Given the description of an element on the screen output the (x, y) to click on. 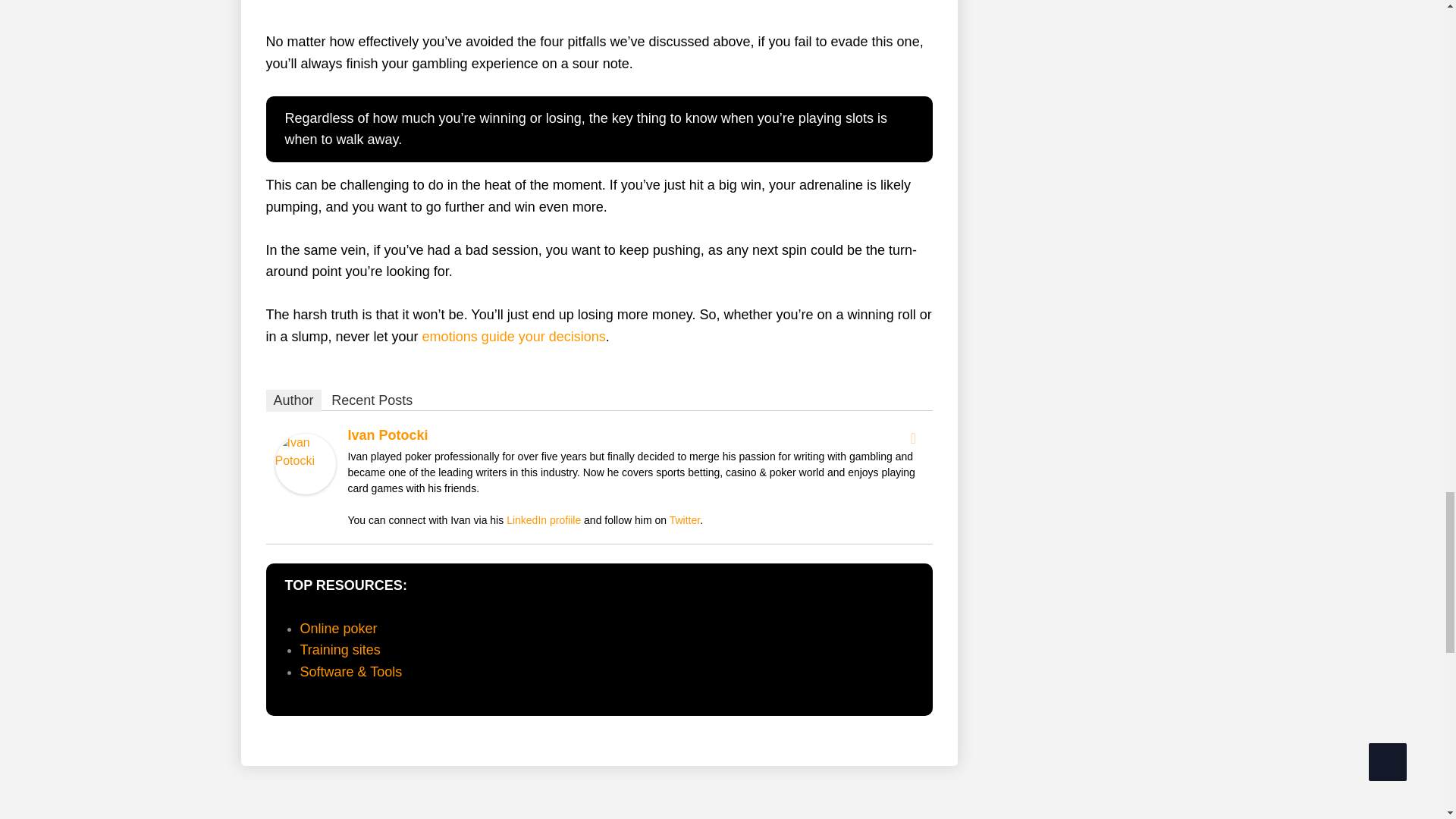
Twitter (912, 438)
Ivan Potocki (304, 462)
